Given the description of an element on the screen output the (x, y) to click on. 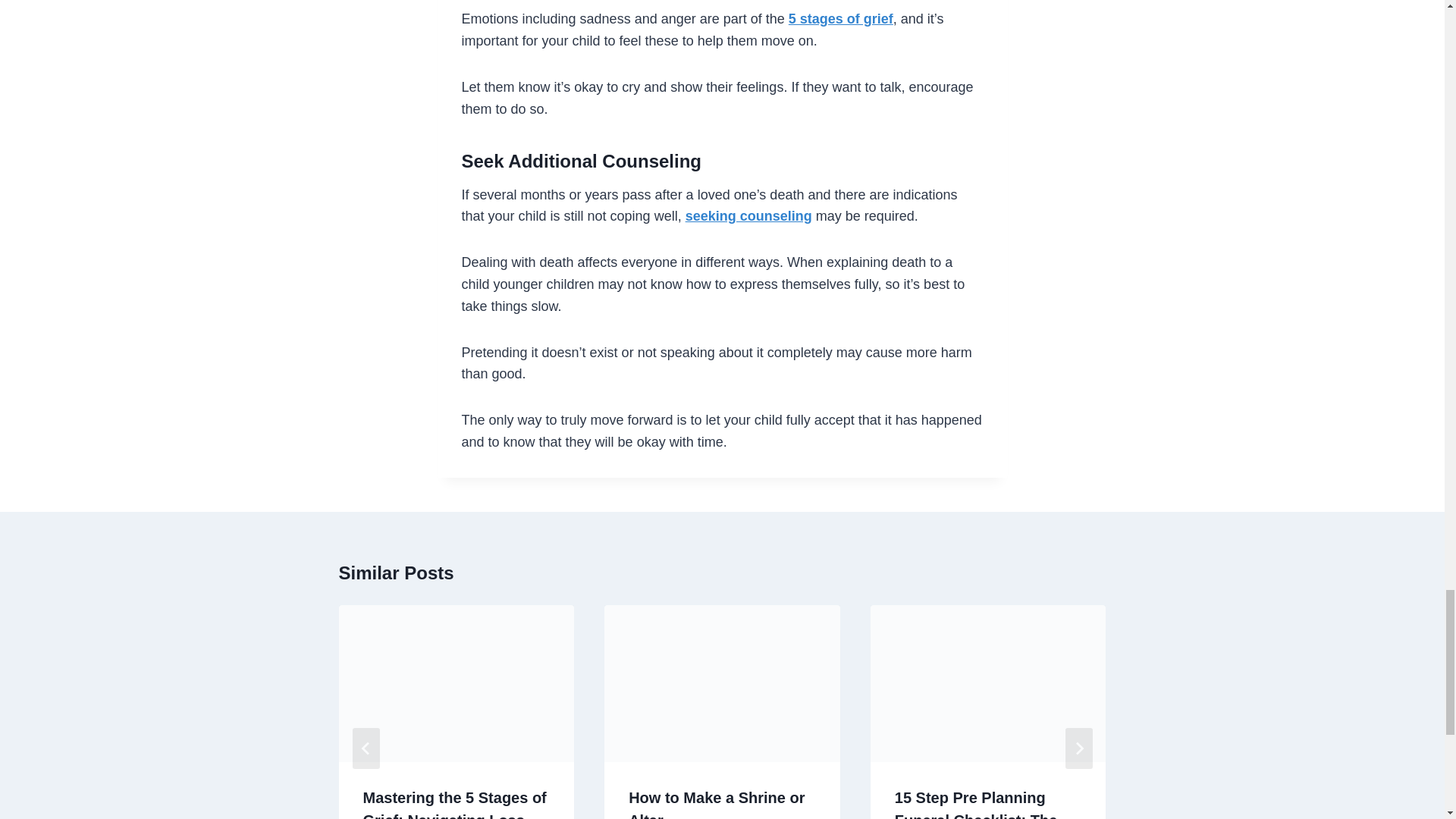
How to Make a Shrine or Altar (716, 804)
seeking counseling (748, 215)
5 stages of grief (841, 18)
